Given the description of an element on the screen output the (x, y) to click on. 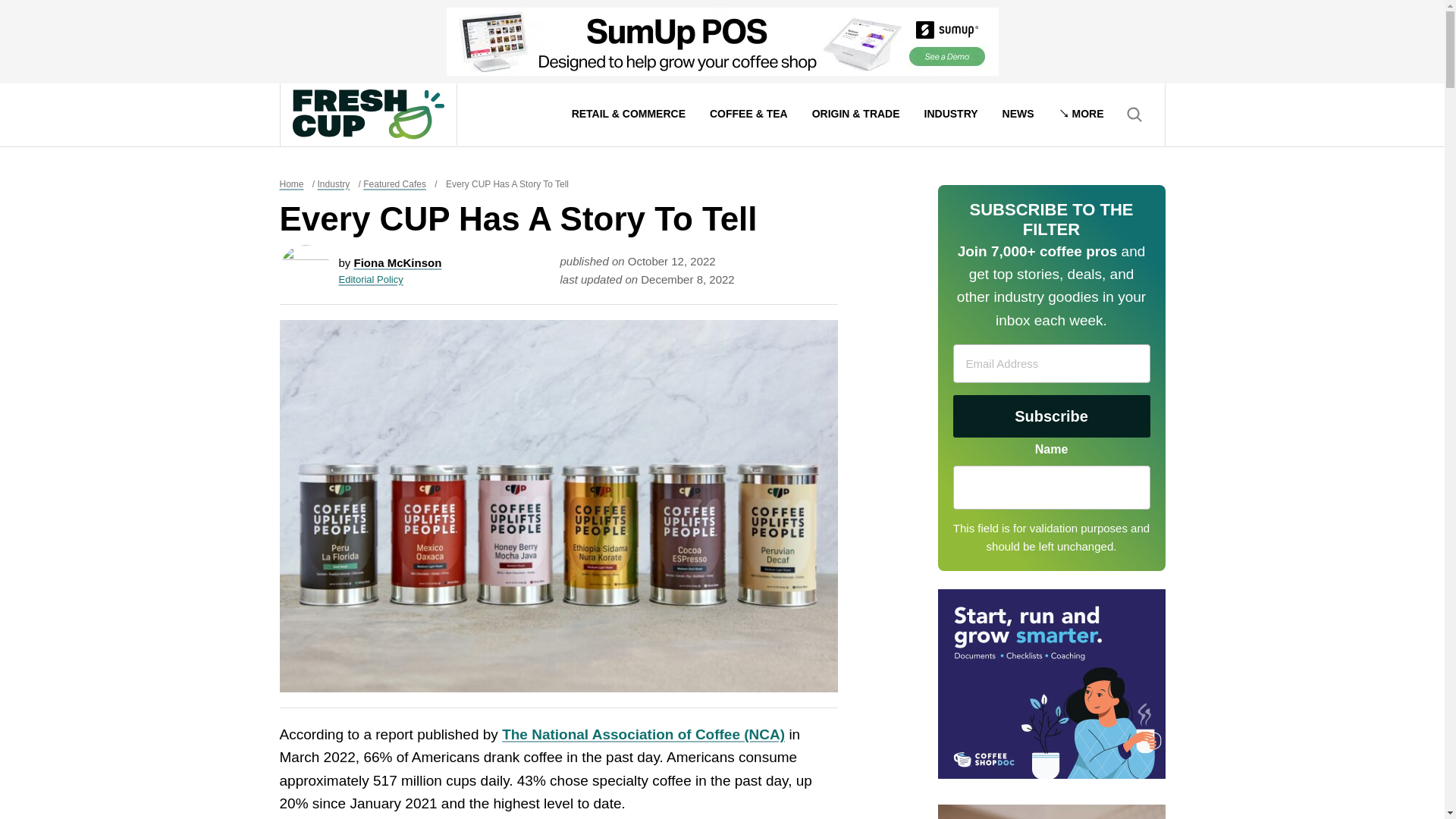
Fresh Cup Magazine (368, 114)
INDUSTRY (951, 114)
Subscribe (1051, 415)
NEWS (1018, 114)
